Given the description of an element on the screen output the (x, y) to click on. 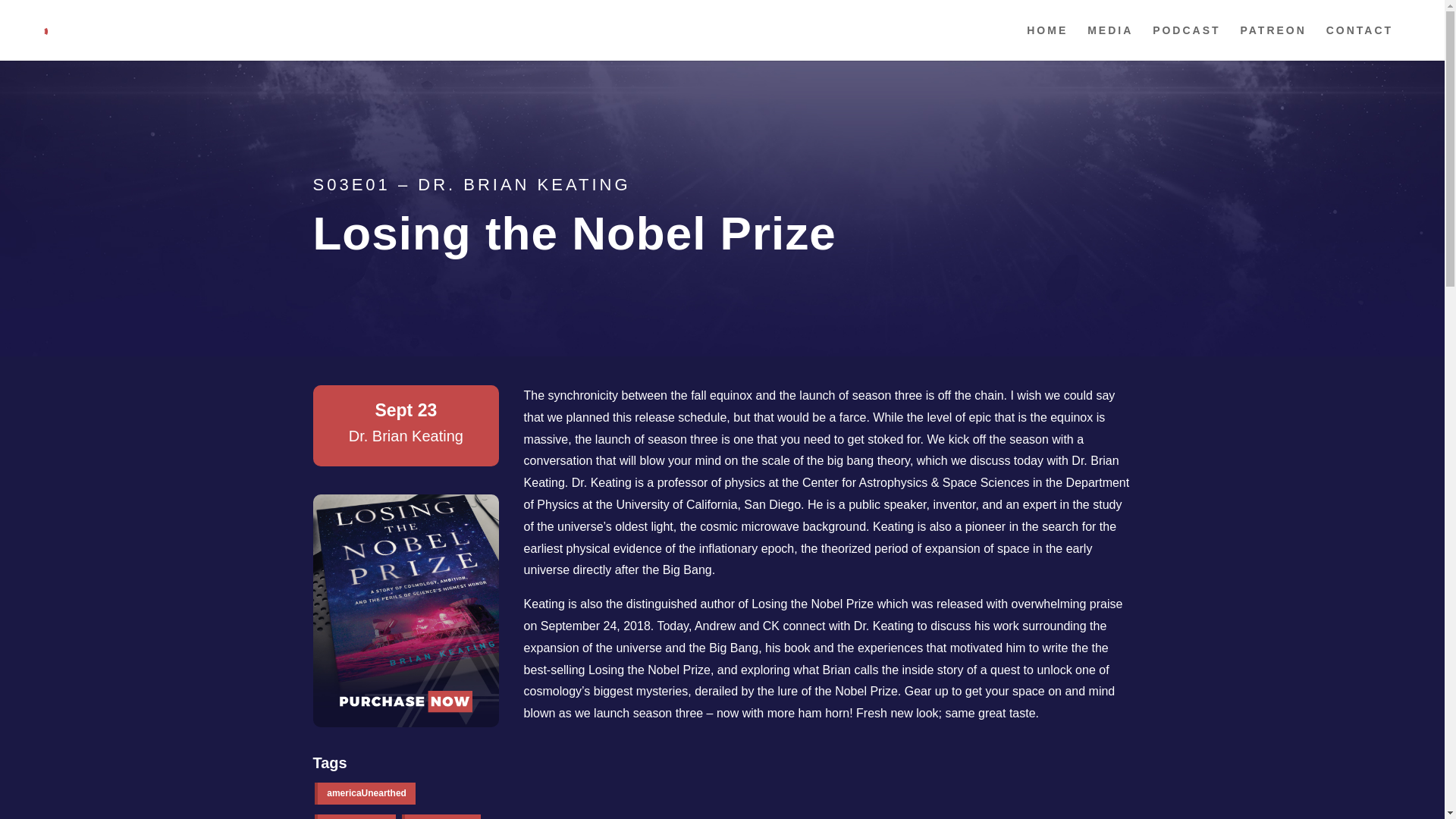
HOME (1046, 42)
ancientAliens (355, 816)
MEDIA (1109, 42)
americaUnearthed (364, 793)
ancientEgypt (440, 816)
PODCAST (1186, 42)
CONTACT (1359, 42)
PATREON (1273, 42)
